Given the description of an element on the screen output the (x, y) to click on. 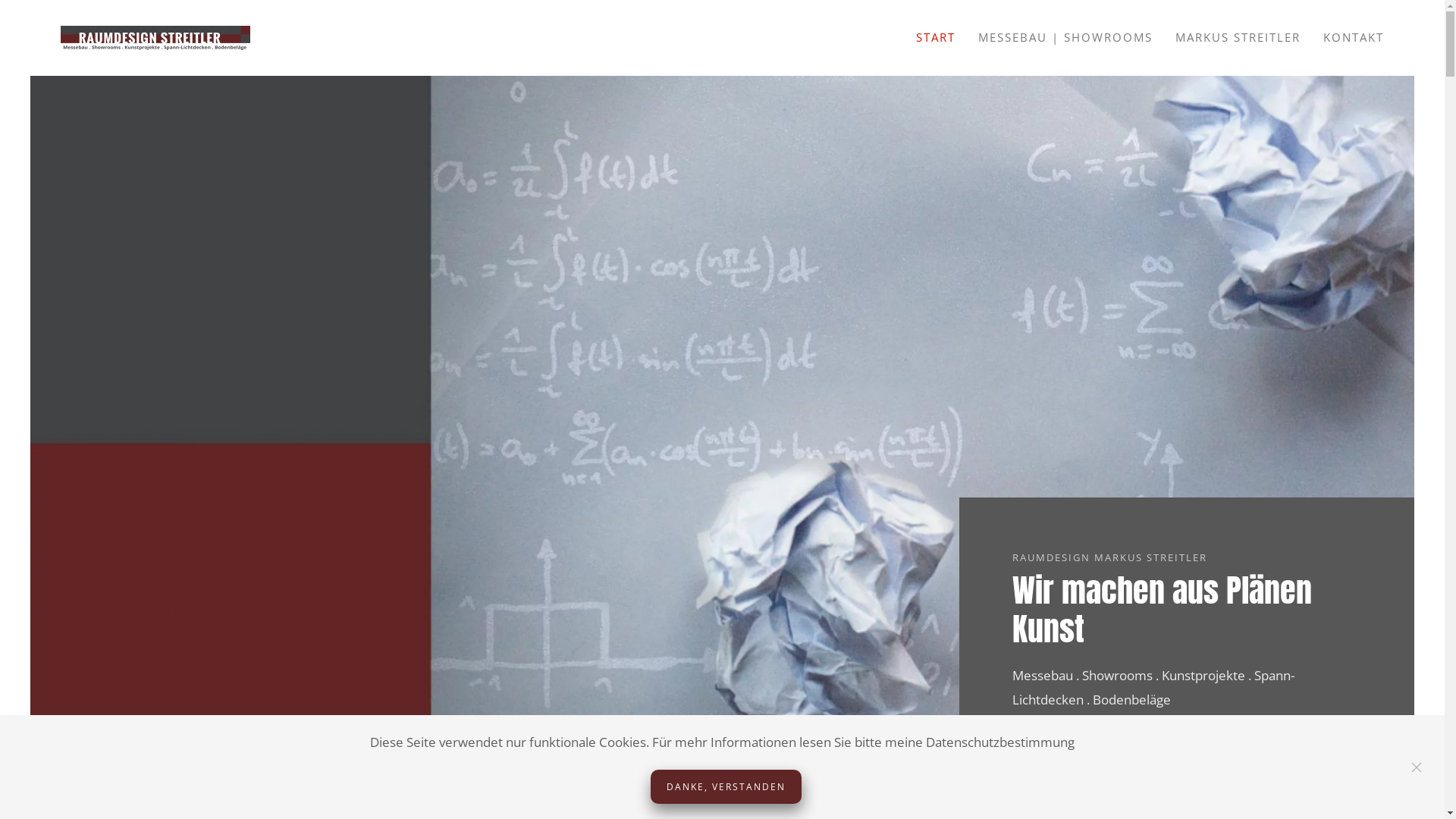
KONTAKT Element type: text (1353, 37)
MEHR INFORMATIONEN Element type: text (1076, 754)
DANKE, VERSTANDEN Element type: text (725, 786)
MESSEBAU | SHOWROOMS Element type: text (1065, 37)
MARKUS STREITLER Element type: text (1237, 37)
START Element type: text (935, 37)
